Given the description of an element on the screen output the (x, y) to click on. 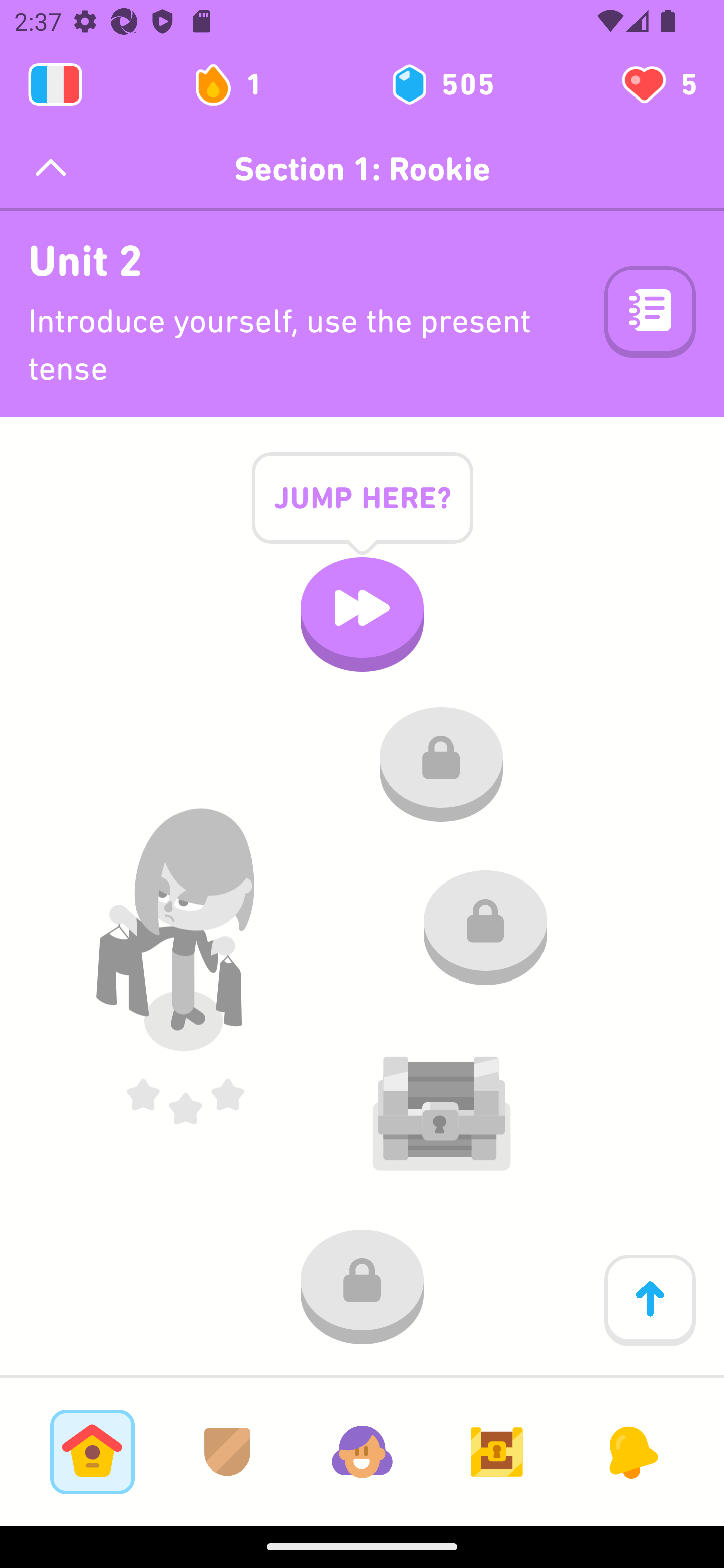
Learning 2131888976 (55, 84)
1 day streak 1 (236, 84)
505 (441, 84)
You have 5 hearts left 5 (657, 84)
Section 1: Rookie (362, 169)
JUMP HERE? (361, 512)
Learn Tab (91, 1451)
Leagues Tab (227, 1451)
Profile Tab (361, 1451)
Goals Tab (496, 1451)
News Tab (631, 1451)
